Given the description of an element on the screen output the (x, y) to click on. 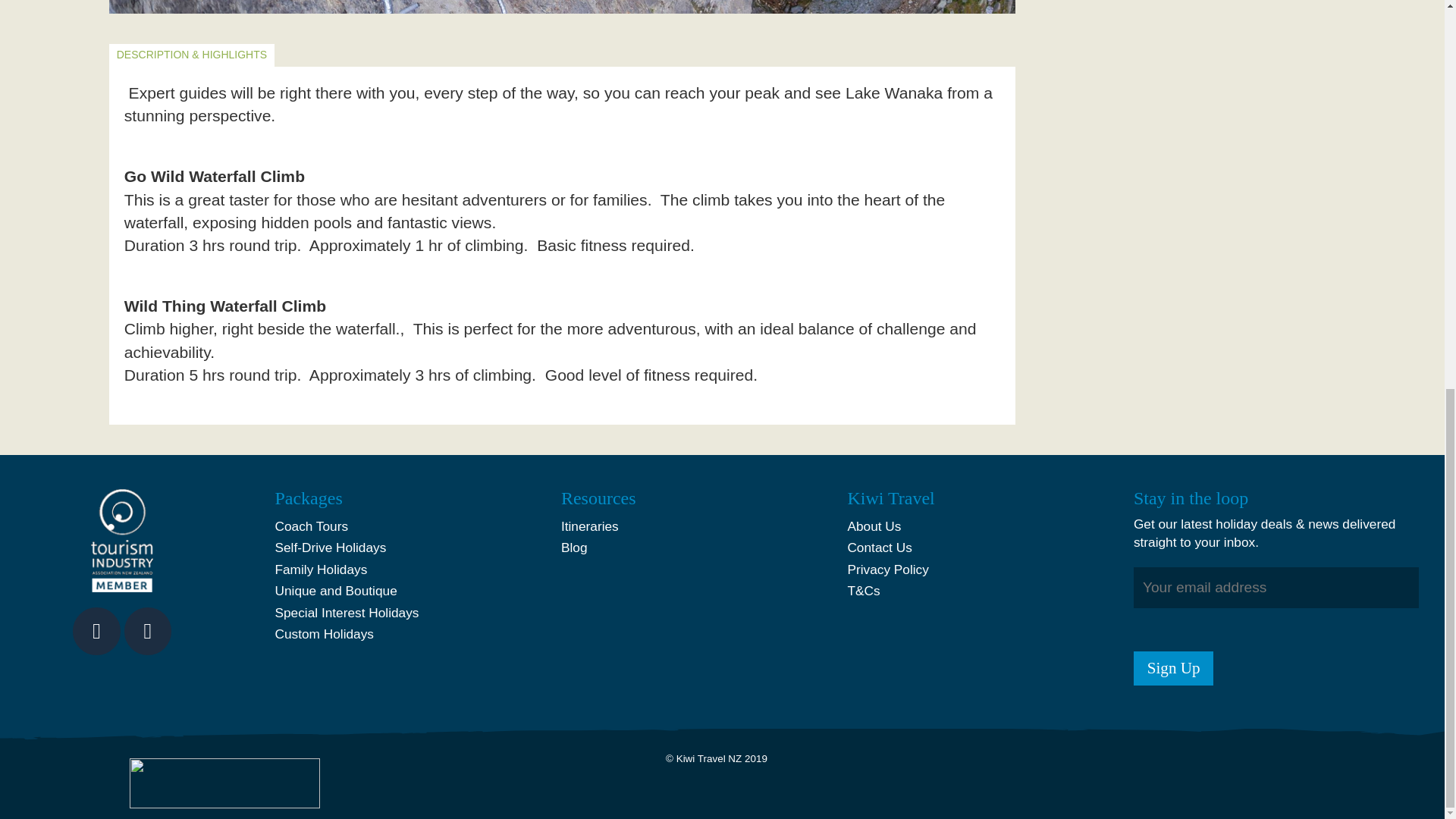
Sign Up (1174, 667)
